Given the description of an element on the screen output the (x, y) to click on. 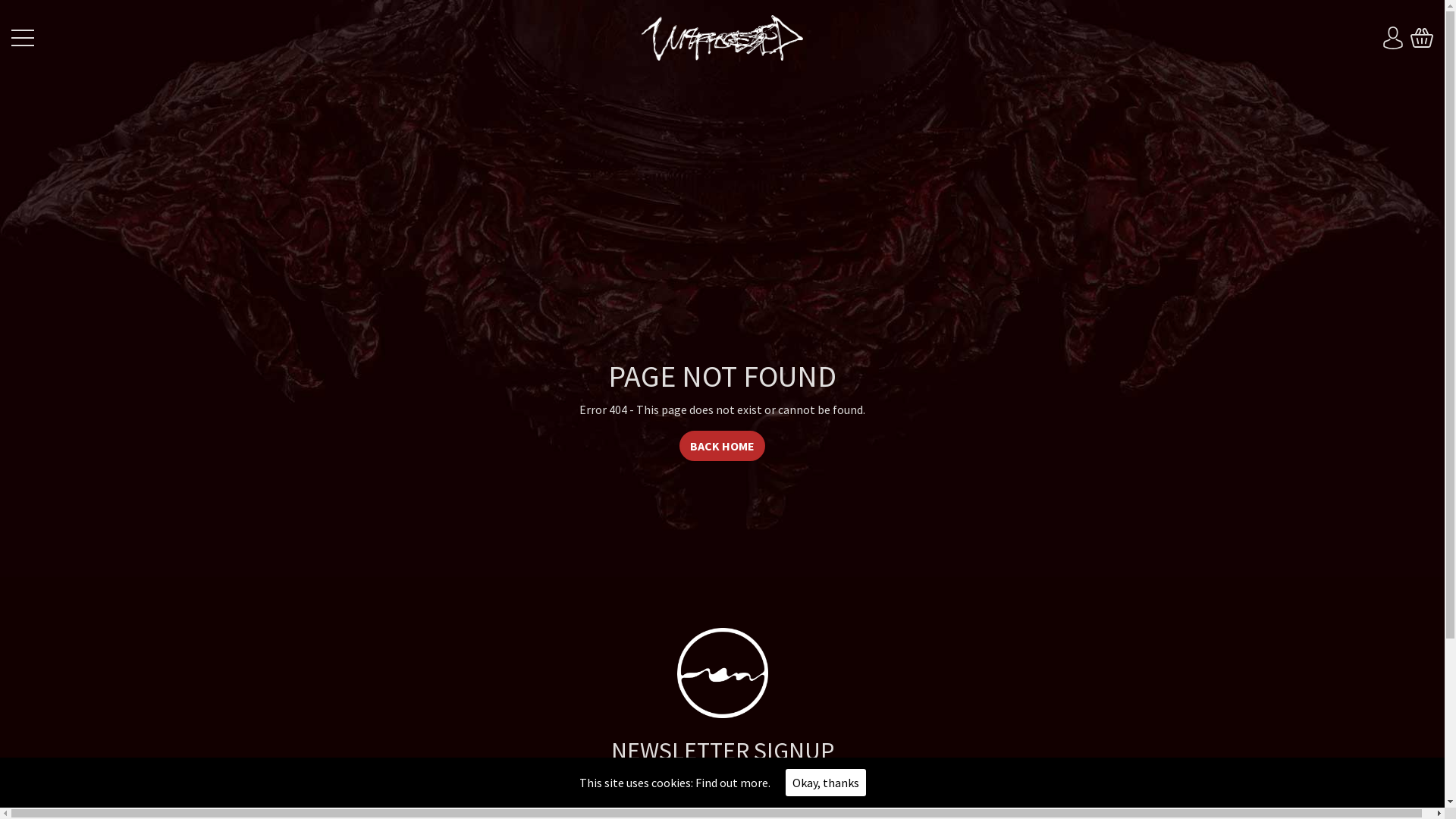
BACK HOME Element type: text (722, 445)
Login / Register Element type: hover (1392, 37)
Okay, thanks Element type: text (825, 782)
Find out more. Element type: text (731, 782)
